Given the description of an element on the screen output the (x, y) to click on. 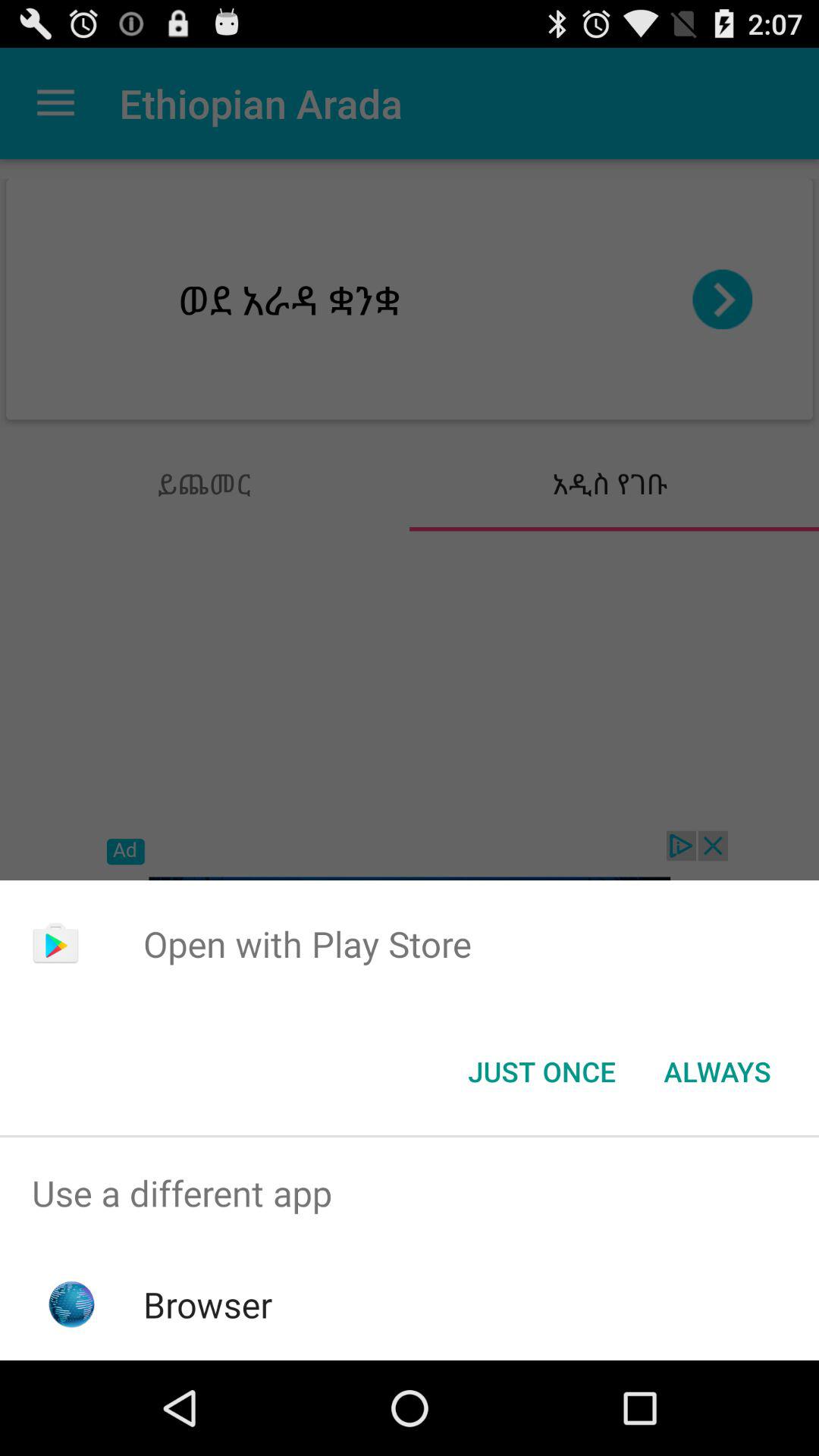
scroll to the always (717, 1071)
